Given the description of an element on the screen output the (x, y) to click on. 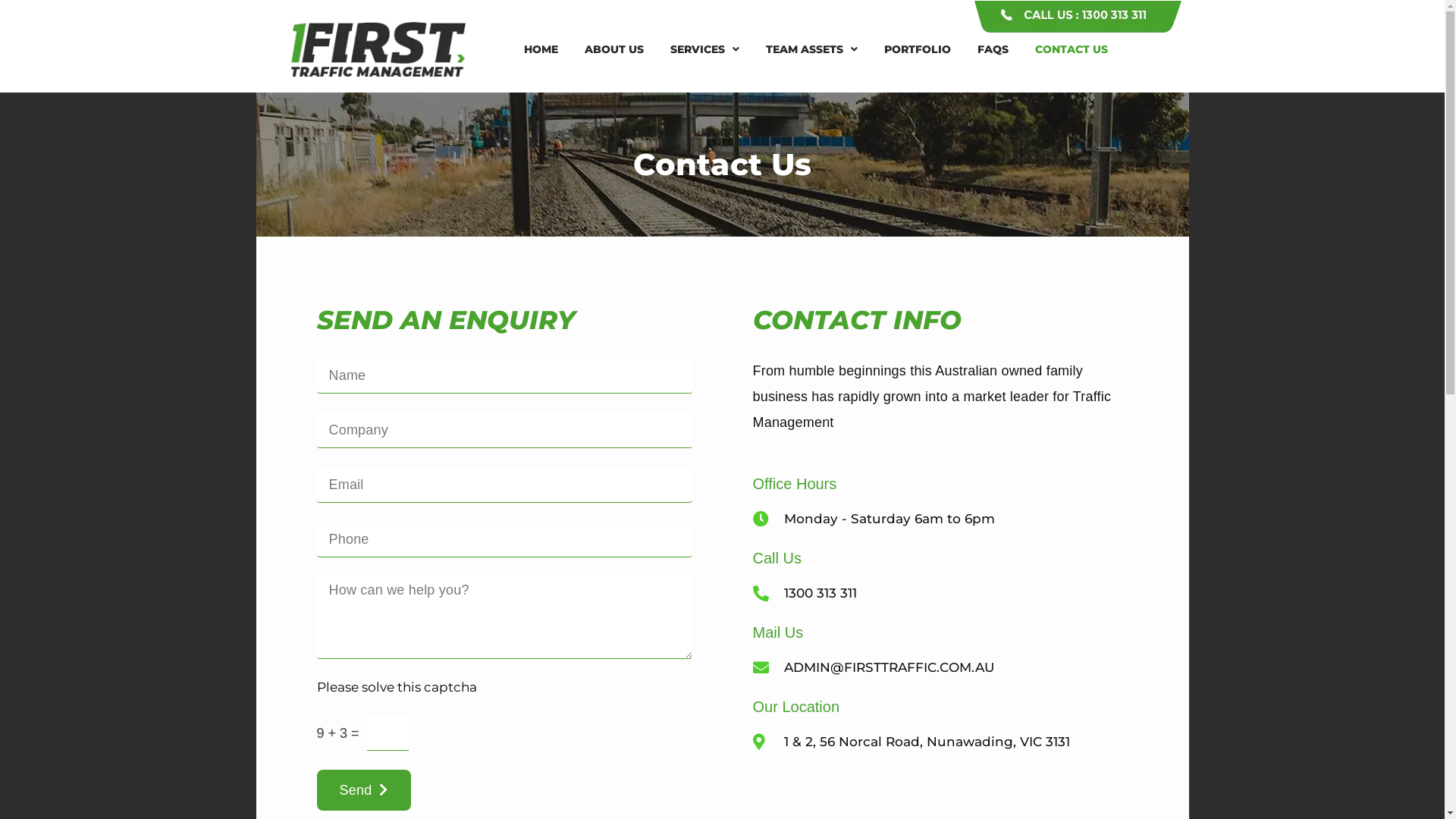
FAQS Element type: text (992, 49)
PORTFOLIO Element type: text (917, 49)
1300 313 311 Element type: text (939, 593)
ABOUT US Element type: text (613, 49)
ADMIN@FIRSTTRAFFIC.COM.AU Element type: text (939, 667)
HOME Element type: text (540, 49)
Send Element type: text (363, 788)
TEAM ASSETS Element type: text (811, 49)
CONTACT US Element type: text (1071, 49)
SERVICES Element type: text (704, 49)
